Given the description of an element on the screen output the (x, y) to click on. 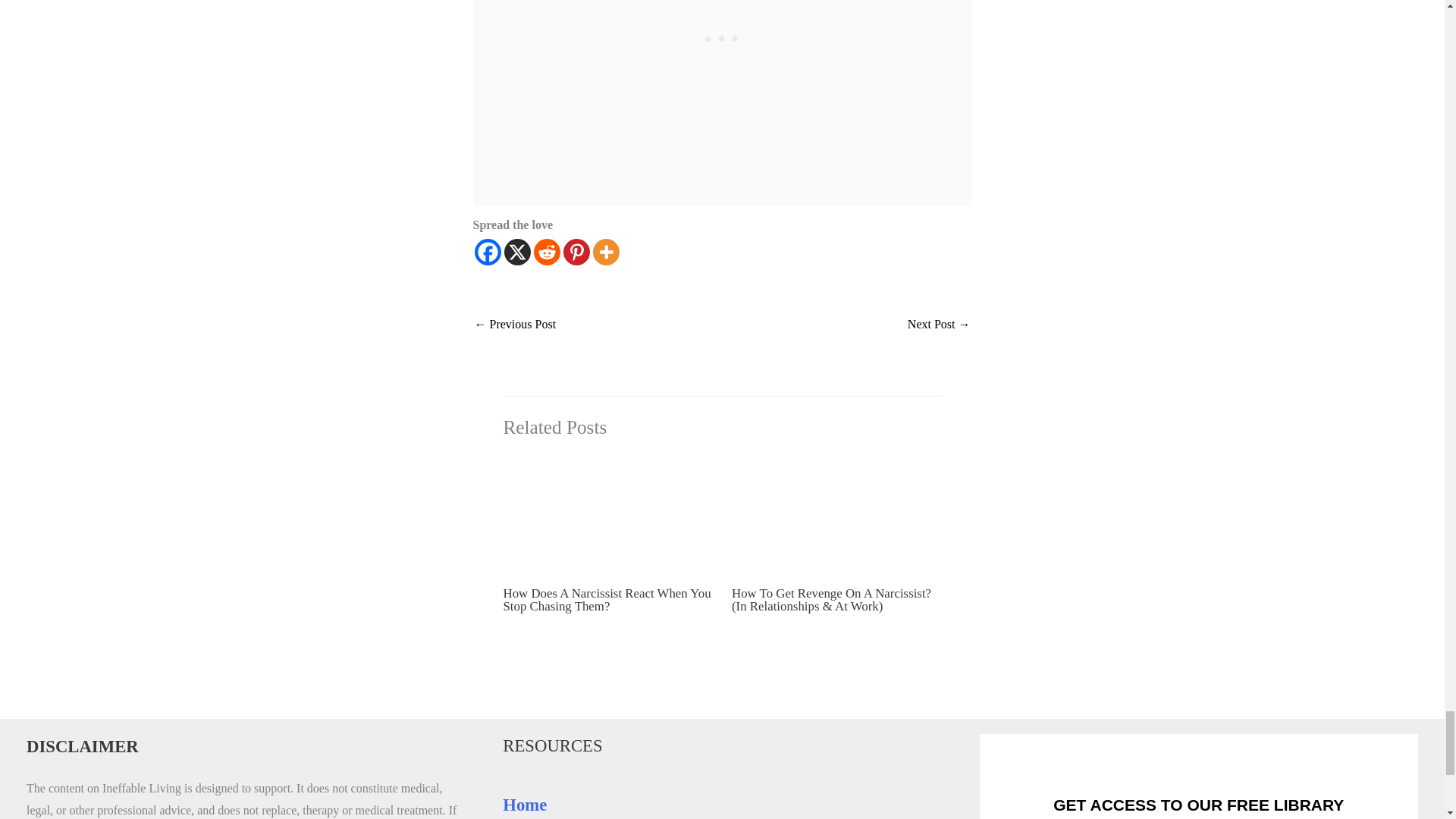
The Danger of Being a People Pleaser (515, 325)
Pinterest (575, 252)
X (516, 252)
Facebook (487, 252)
Reddit (547, 252)
More (606, 252)
How Does A Narcissist React When They Can't Control You? (939, 325)
